Given the description of an element on the screen output the (x, y) to click on. 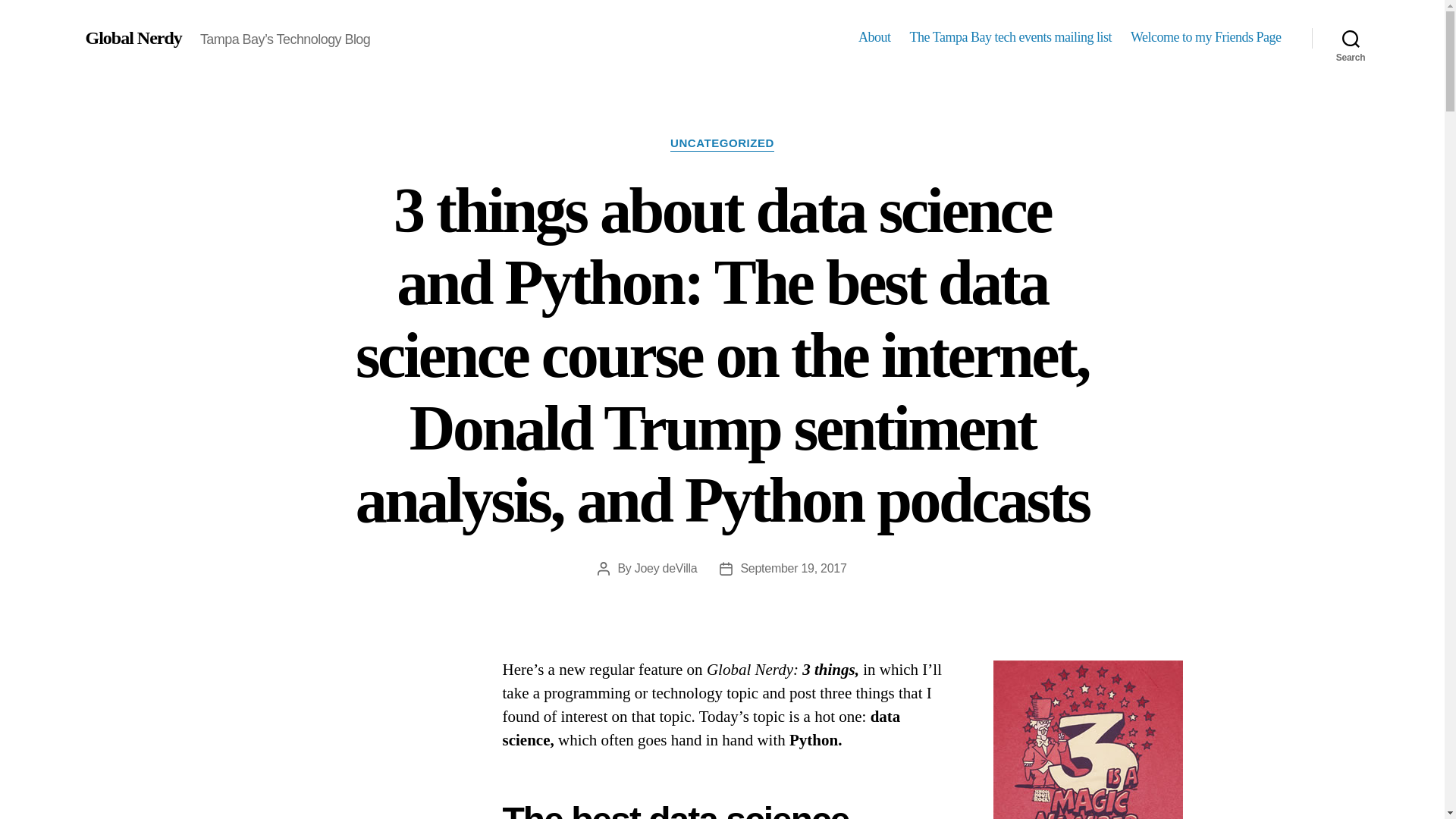
Joey deVilla (665, 567)
The Tampa Bay tech events mailing list (1011, 37)
Welcome to my Friends Page (1206, 37)
About (875, 37)
Global Nerdy (132, 37)
UNCATEGORIZED (721, 143)
September 19, 2017 (792, 567)
Search (1350, 37)
